Given the description of an element on the screen output the (x, y) to click on. 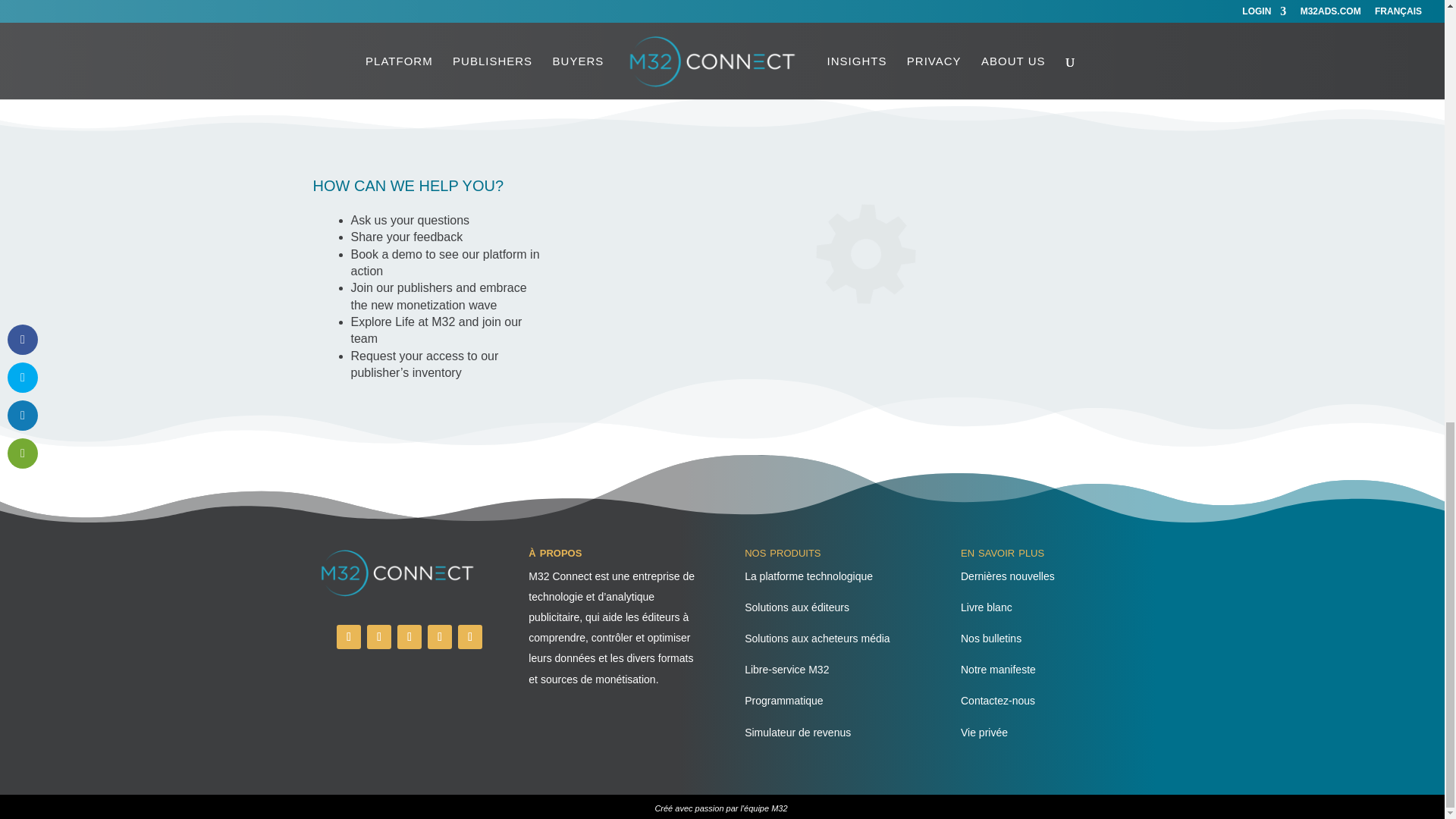
Follow on X (469, 636)
Follow on Facebook (348, 636)
M32CONNECT LOGO (398, 573)
Follow on LinkedIn (378, 636)
Follow on Instagram (409, 636)
Follow on TikTok (439, 636)
